Given the description of an element on the screen output the (x, y) to click on. 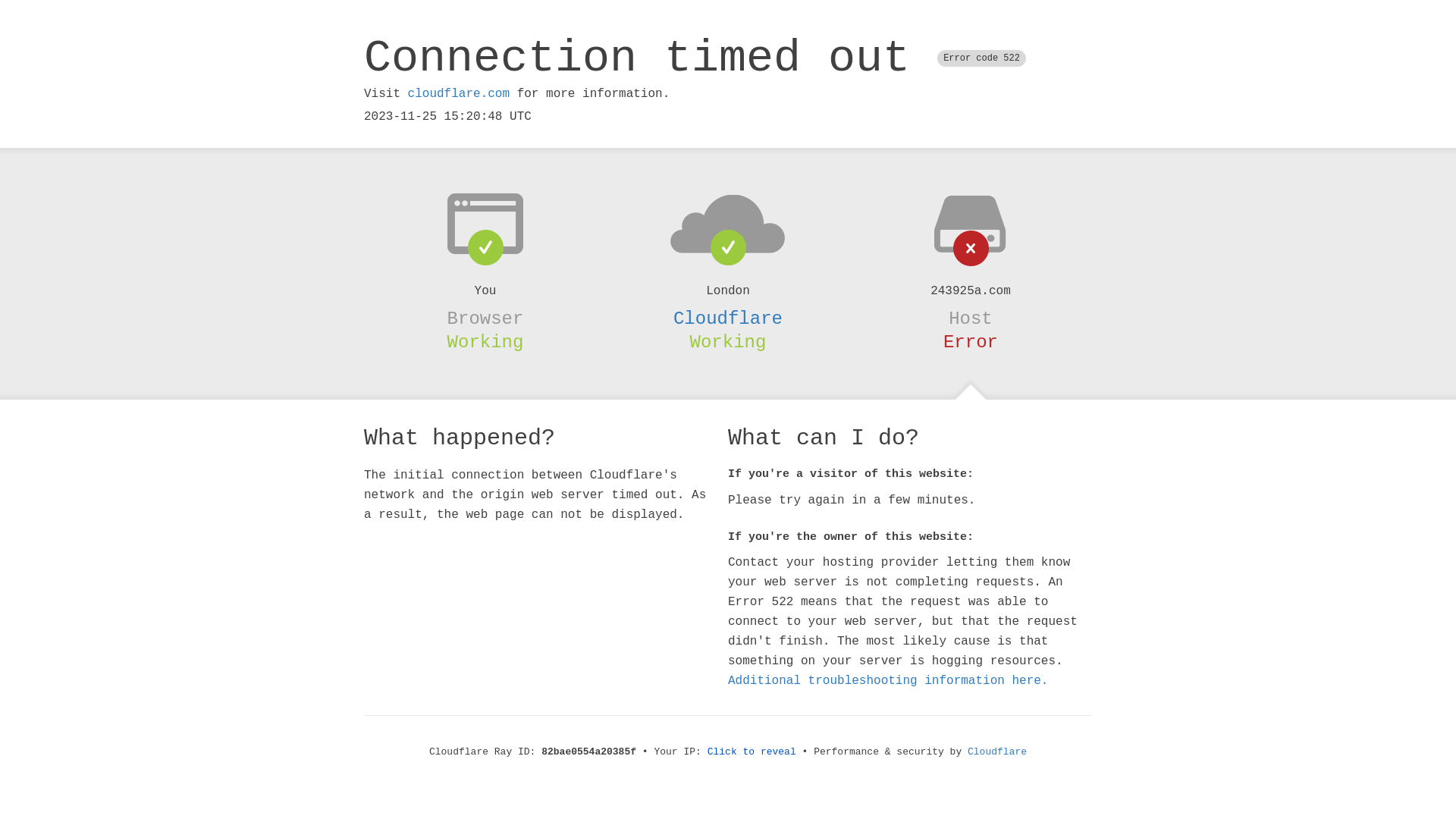
Cloudflare Element type: text (996, 751)
Additional troubleshooting information here. Element type: text (888, 680)
cloudflare.com Element type: text (458, 93)
Cloudflare Element type: text (727, 318)
Click to reveal Element type: text (751, 751)
